Given the description of an element on the screen output the (x, y) to click on. 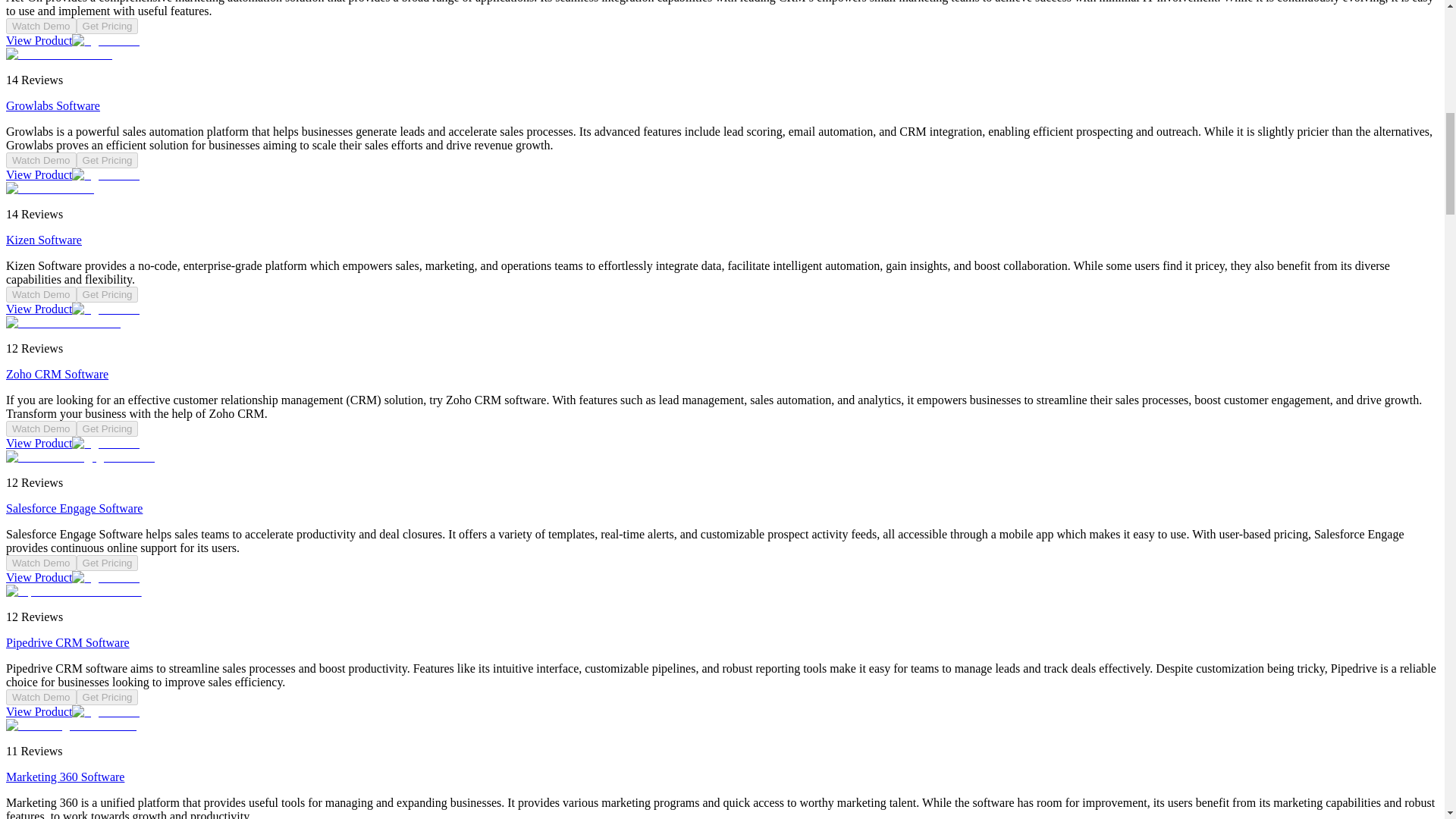
Watch Demo (41, 294)
Get Pricing (107, 160)
View Product (72, 40)
Get Pricing (107, 26)
View Product (72, 308)
Watch Demo (41, 26)
Get Pricing (107, 294)
View Product (72, 174)
Watch Demo (41, 160)
